Given the description of an element on the screen output the (x, y) to click on. 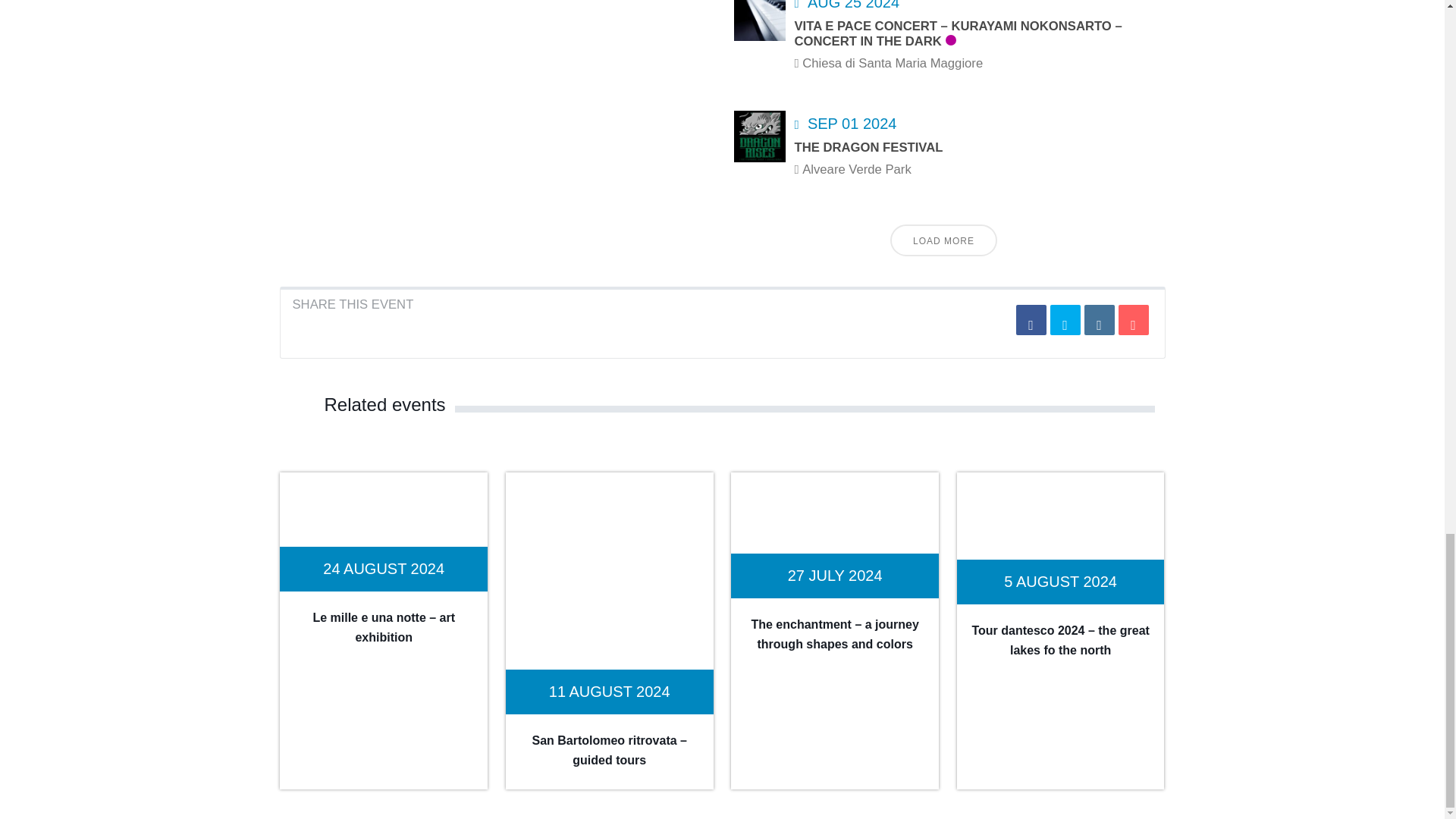
Tweet (1064, 319)
Linkedin (1099, 319)
Share on Facebook (1031, 319)
Email (1133, 319)
